Given the description of an element on the screen output the (x, y) to click on. 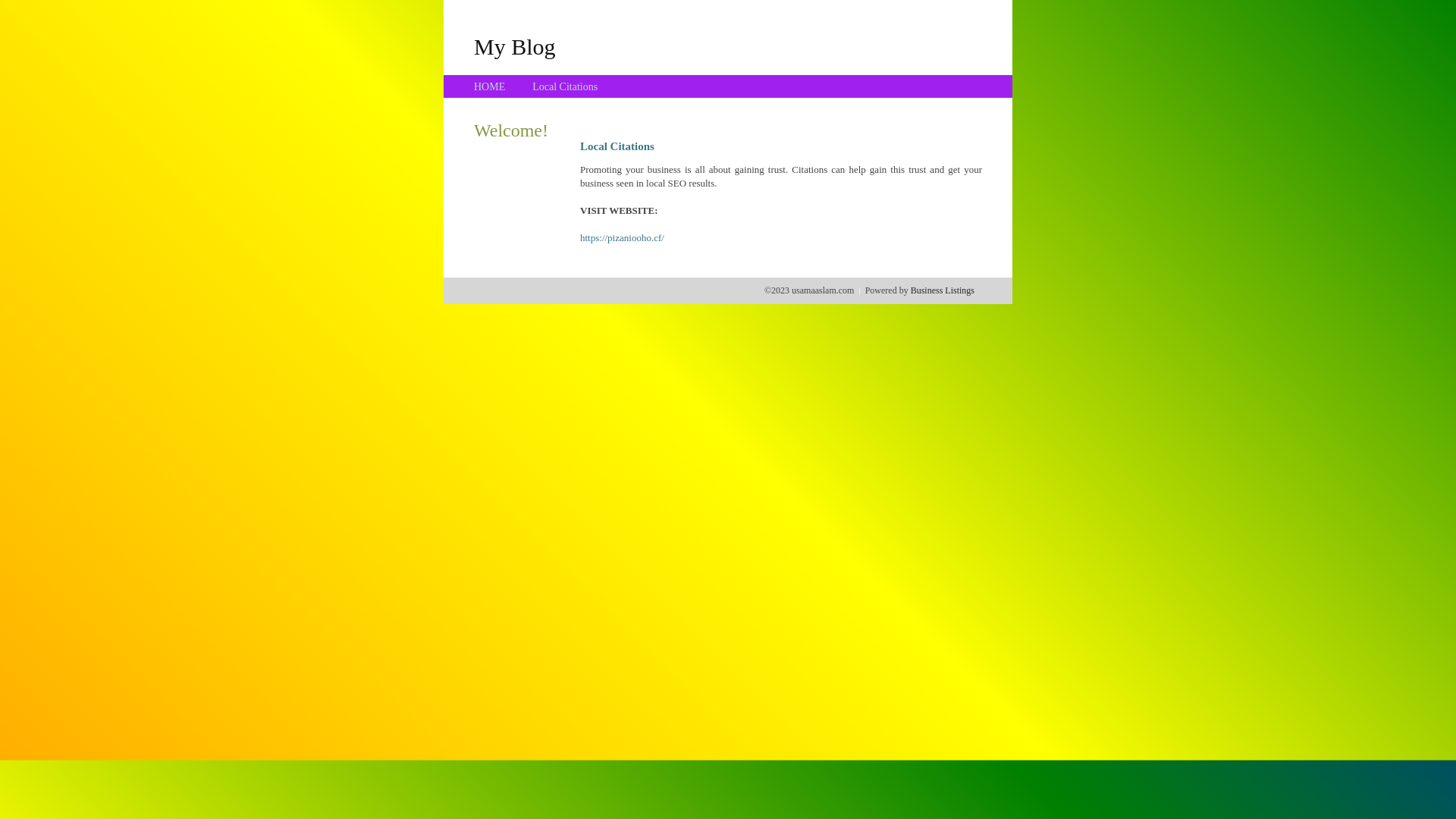
Local Citations Element type: text (564, 86)
https://pizaniooho.cf/ Element type: text (622, 237)
HOME Element type: text (489, 86)
Business Listings Element type: text (942, 290)
My Blog Element type: text (514, 46)
